Given the description of an element on the screen output the (x, y) to click on. 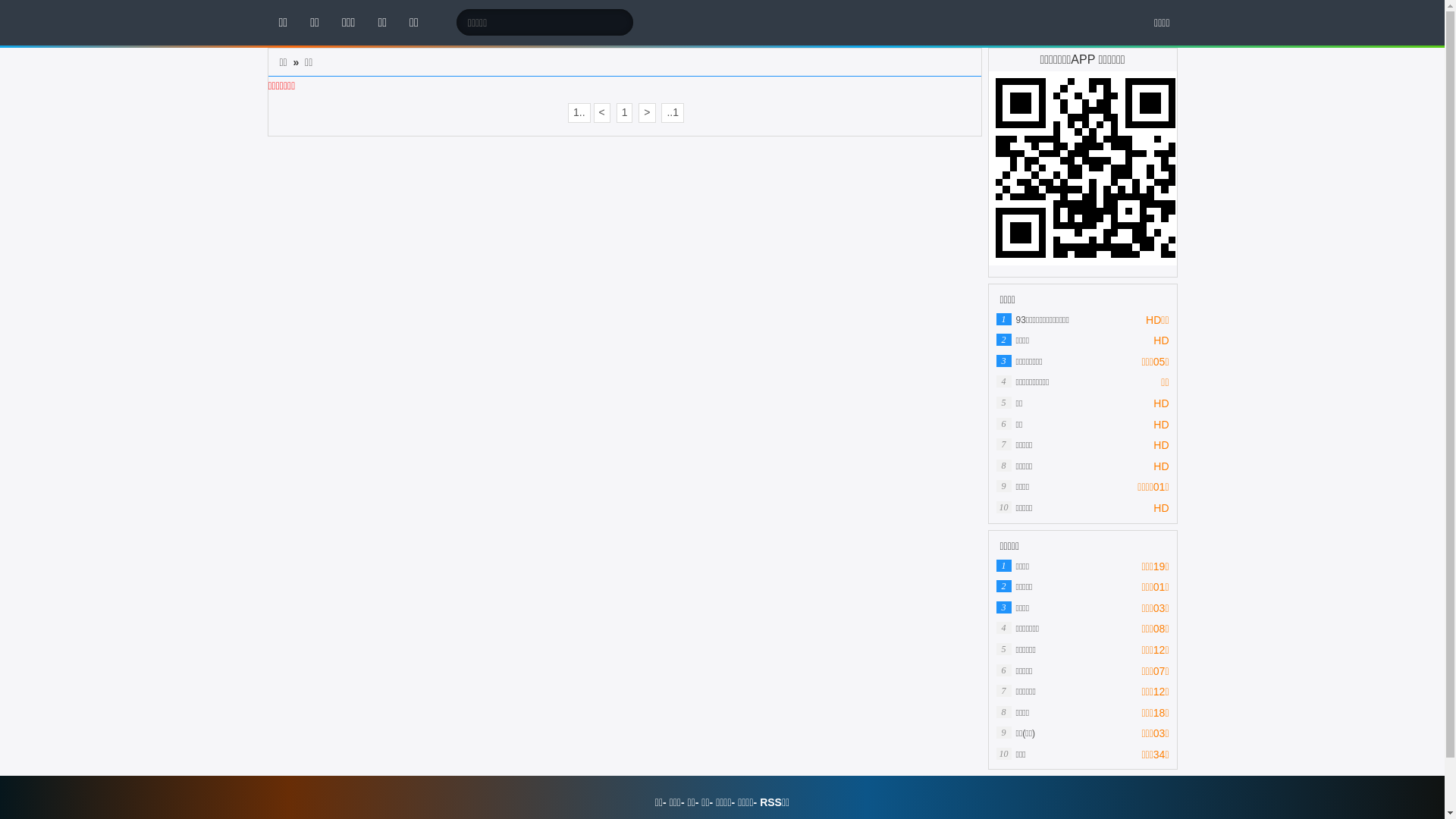
< Element type: text (601, 112)
> Element type: text (646, 112)
1 Element type: text (624, 112)
..1 Element type: text (672, 112)
1.. Element type: text (578, 112)
